Given the description of an element on the screen output the (x, y) to click on. 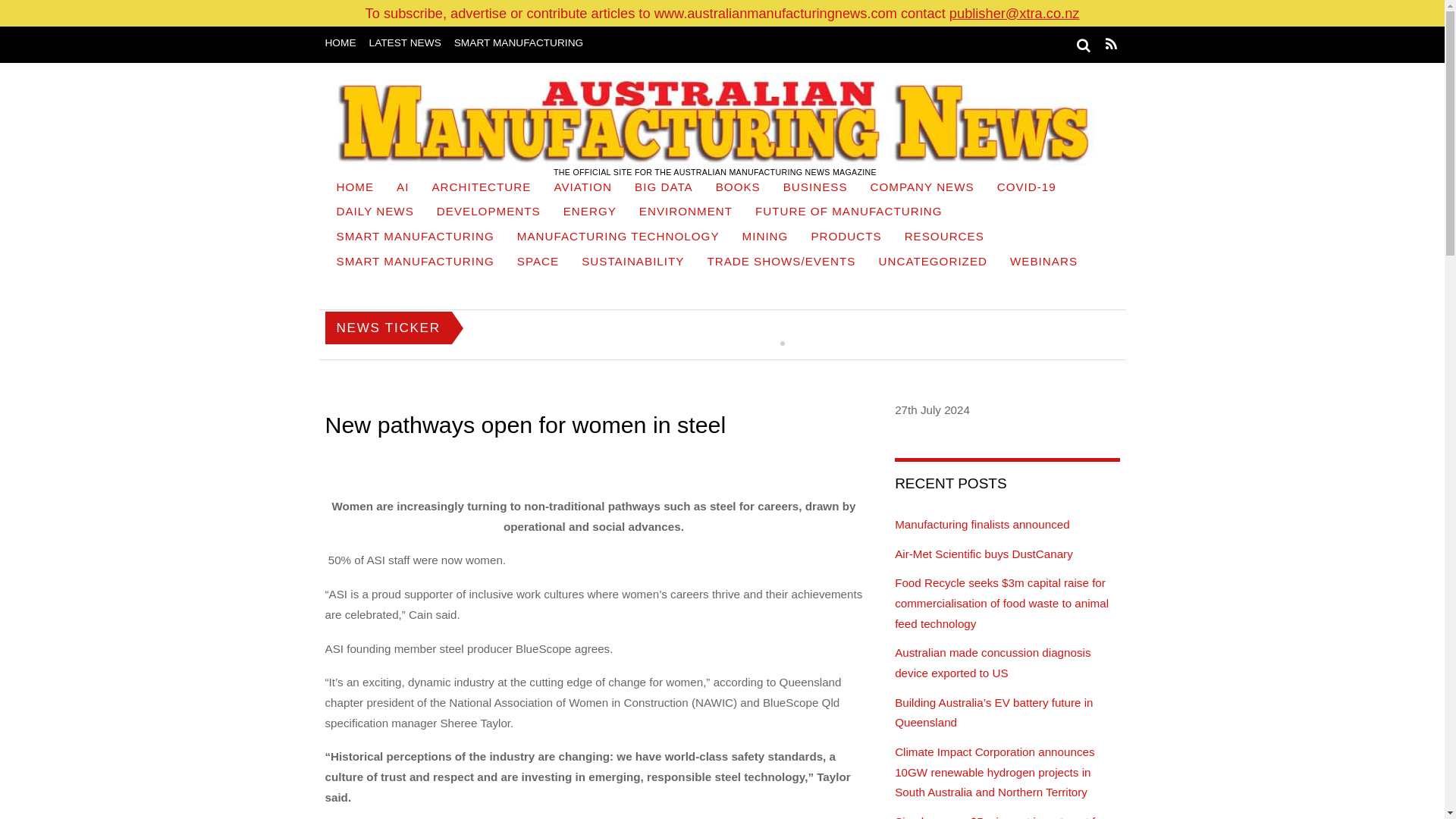
AVIATION (582, 188)
COVID-19 (1026, 188)
SMART MANUFACTURING (414, 263)
BIG DATA (663, 188)
RESOURCES (944, 238)
SUSTAINABILITY (632, 263)
SMART MANUFACTURING (414, 238)
MANUFACTURING TECHNOLOGY (617, 238)
SPACE (537, 263)
ARCHITECTURE (480, 188)
Australian Manufacturing News (713, 118)
DAILY NEWS (374, 213)
Australian Manufacturing News (713, 118)
ENVIRONMENT (685, 213)
AI (402, 188)
